Given the description of an element on the screen output the (x, y) to click on. 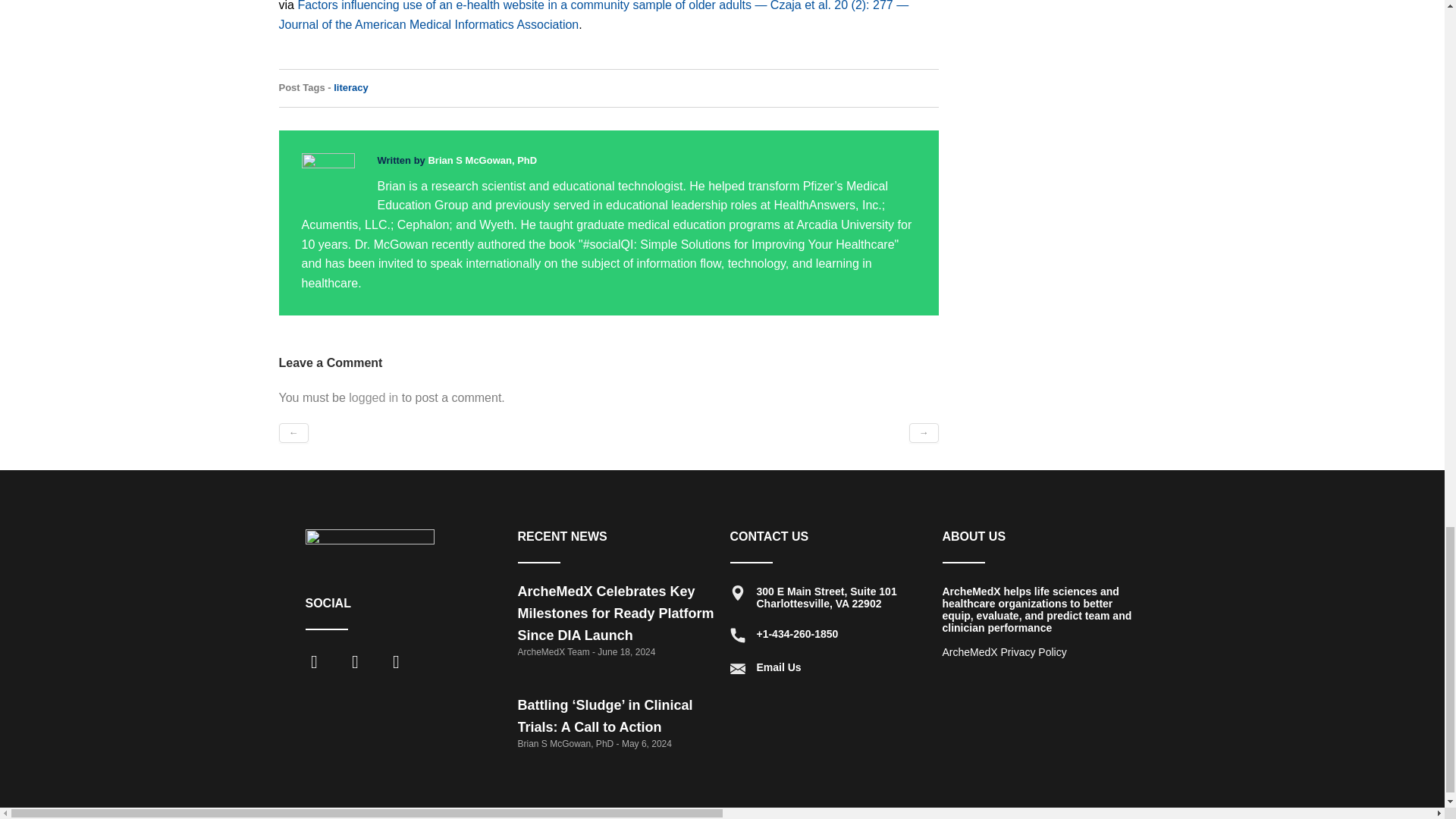
Posts by Brian S McGowan, PhD (482, 160)
Brian S McGowan, PhD (482, 160)
literacy (350, 87)
